Given the description of an element on the screen output the (x, y) to click on. 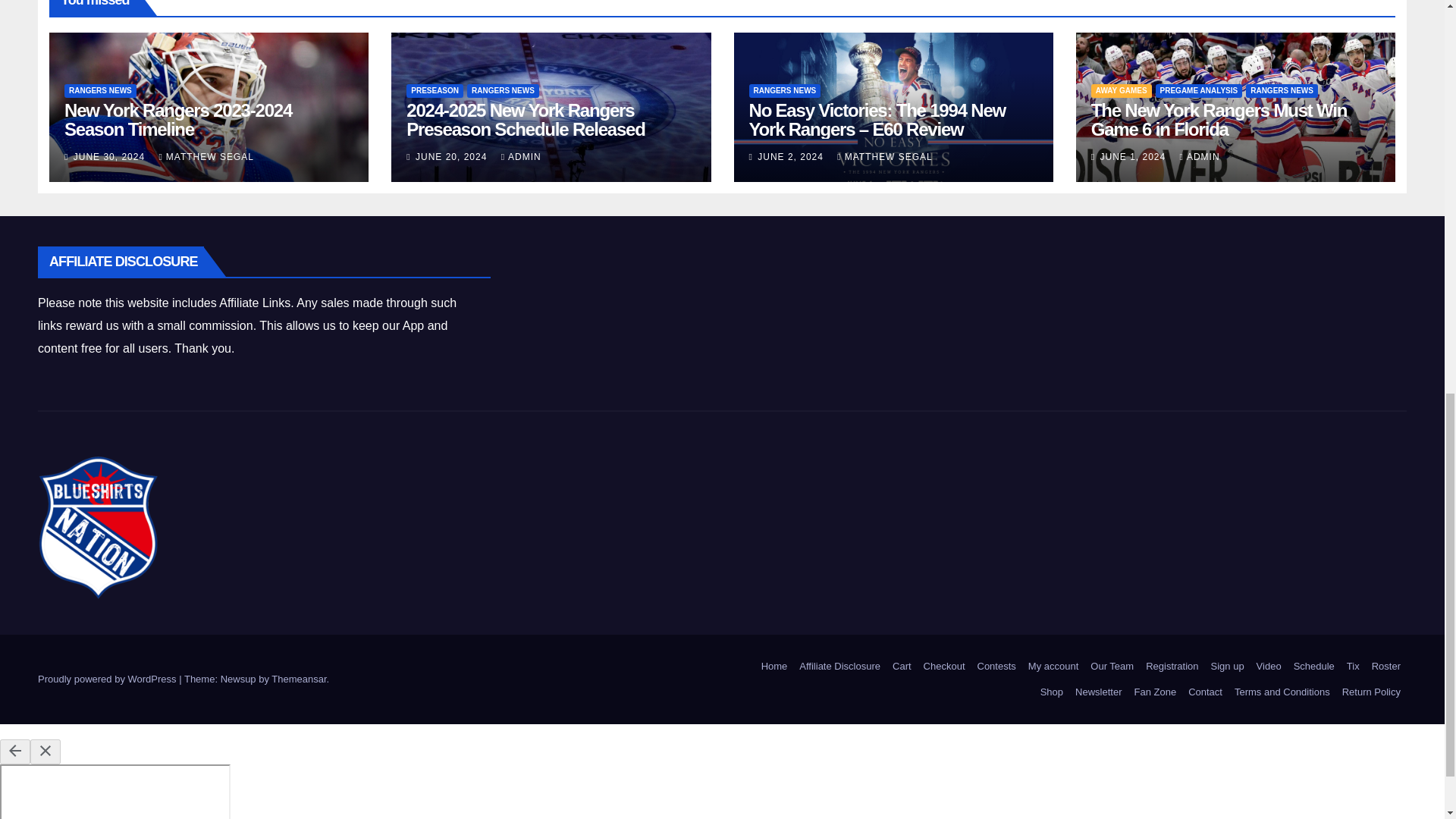
PRESEASON (434, 90)
MATTHEW SEGAL (205, 156)
Permalink to: New York Rangers 2023-2024 Season Timeline (178, 119)
ADMIN (520, 156)
JUNE 30, 2024 (111, 156)
JUNE 20, 2024 (452, 156)
RANGERS NEWS (100, 90)
New York Rangers 2023-2024 Season Timeline (178, 119)
RANGERS NEWS (502, 90)
2024-2025 New York Rangers Preseason Schedule Released (525, 119)
